Given the description of an element on the screen output the (x, y) to click on. 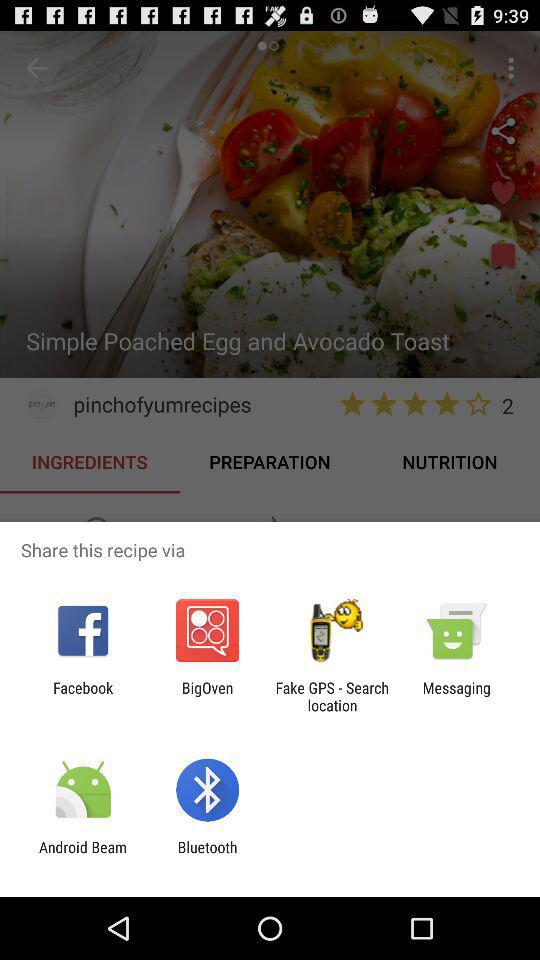
press the icon next to the android beam (207, 856)
